Given the description of an element on the screen output the (x, y) to click on. 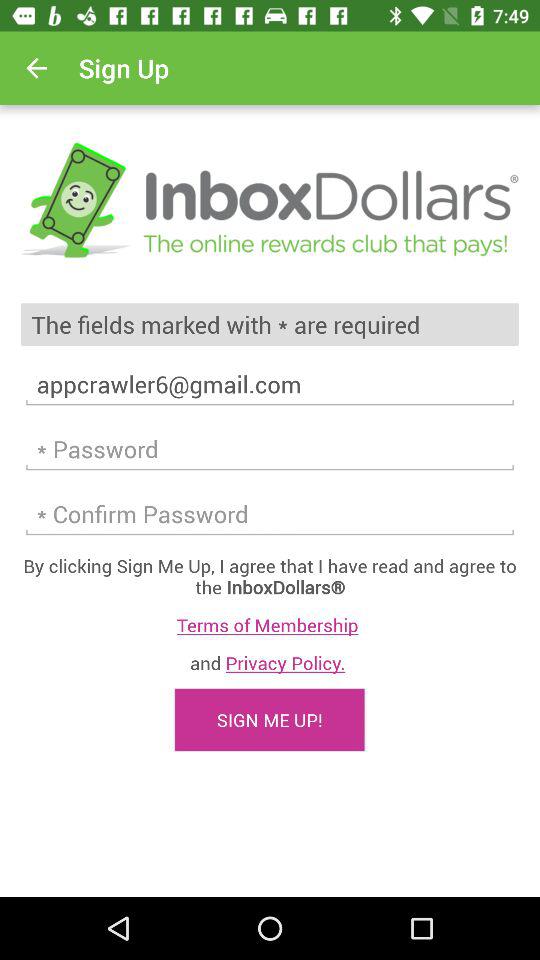
retype password (270, 514)
